Given the description of an element on the screen output the (x, y) to click on. 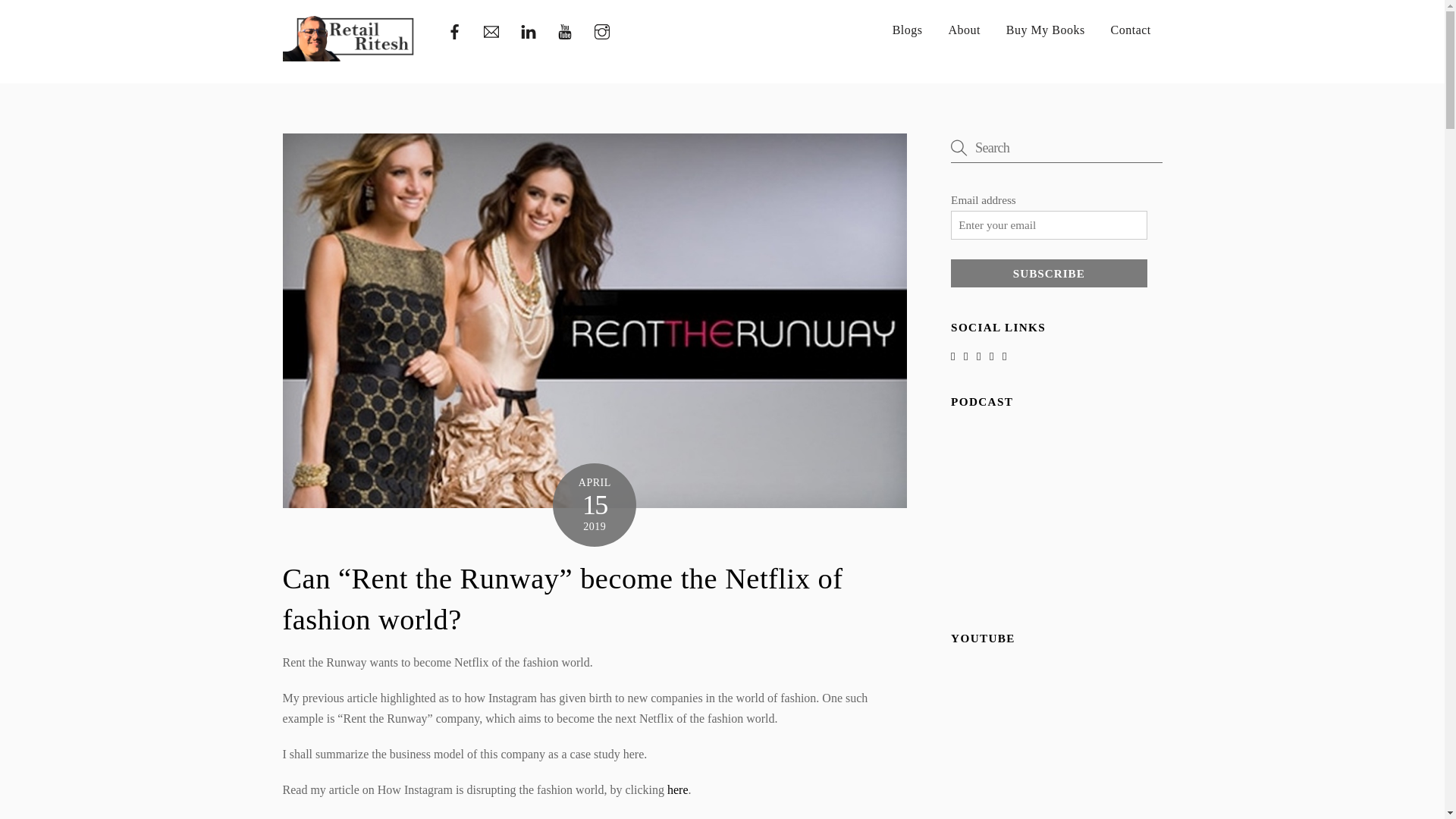
Simplifying retail (348, 54)
About (964, 30)
Contact (1131, 30)
Search (1055, 147)
Buy My Books (1045, 30)
Blogs (907, 30)
here (677, 789)
Advertisement (1055, 811)
Subscribe (721, 30)
retail ritesh (1048, 273)
